Given the description of an element on the screen output the (x, y) to click on. 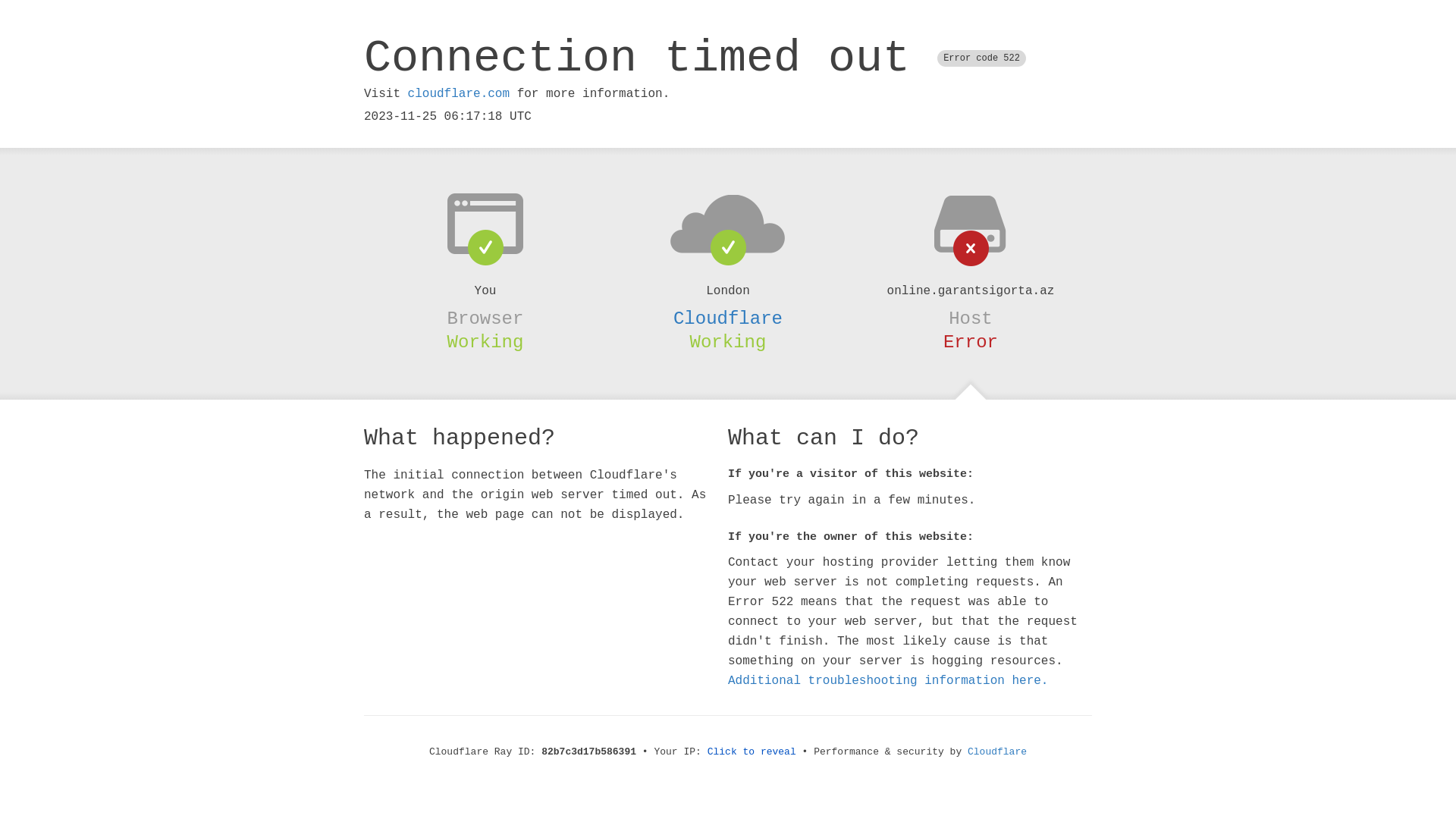
cloudflare.com Element type: text (458, 93)
Additional troubleshooting information here. Element type: text (888, 680)
Click to reveal Element type: text (751, 751)
Cloudflare Element type: text (996, 751)
Cloudflare Element type: text (727, 318)
